Given the description of an element on the screen output the (x, y) to click on. 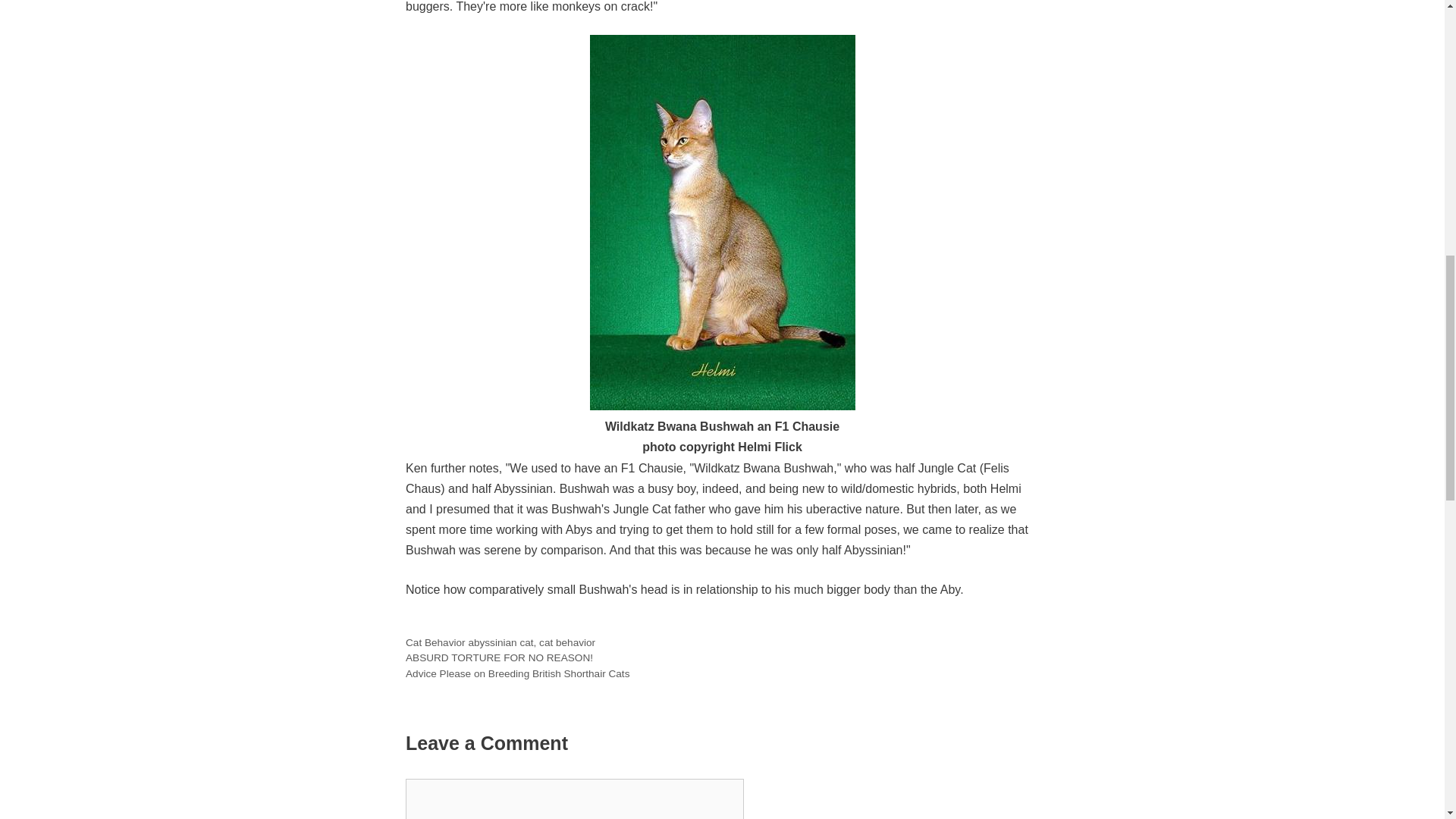
Cat Behavior (435, 642)
ABSURD TORTURE FOR NO REASON! (499, 657)
abyssinian cat (499, 642)
cat behavior (566, 642)
Advice Please on Breeding British Shorthair Cats (517, 673)
